Given the description of an element on the screen output the (x, y) to click on. 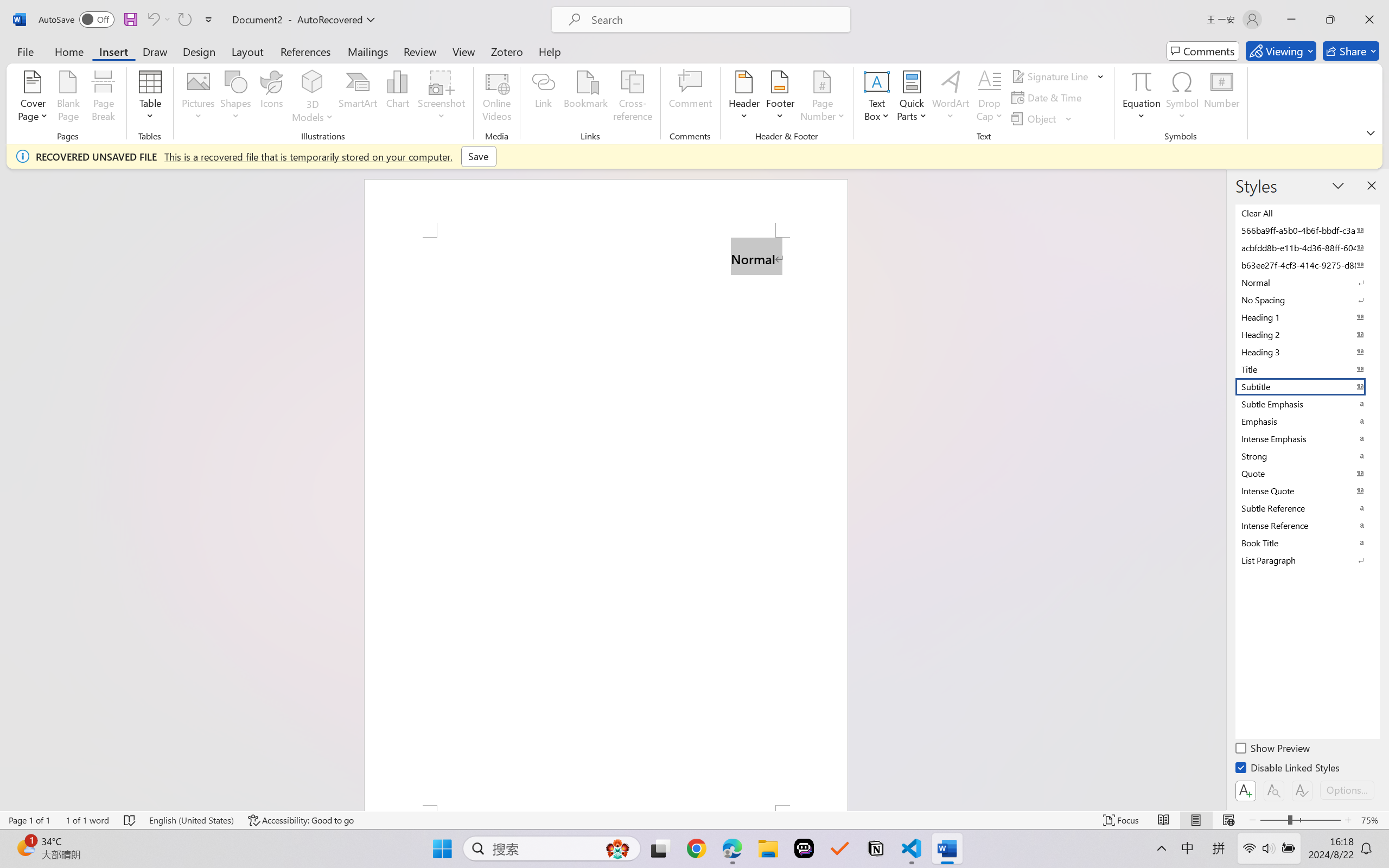
b63ee27f-4cf3-414c-9275-d88e3f90795e (1306, 265)
Footer (780, 97)
Book Title (1306, 543)
Page Break (103, 97)
Object... (1042, 118)
Show Preview (1273, 749)
Page Number Page 1 of 1 (29, 819)
Help (549, 51)
Strong (1306, 456)
Quick Parts (912, 97)
Class: NetUIScrollBar (1219, 489)
Emphasis (1306, 421)
